Given the description of an element on the screen output the (x, y) to click on. 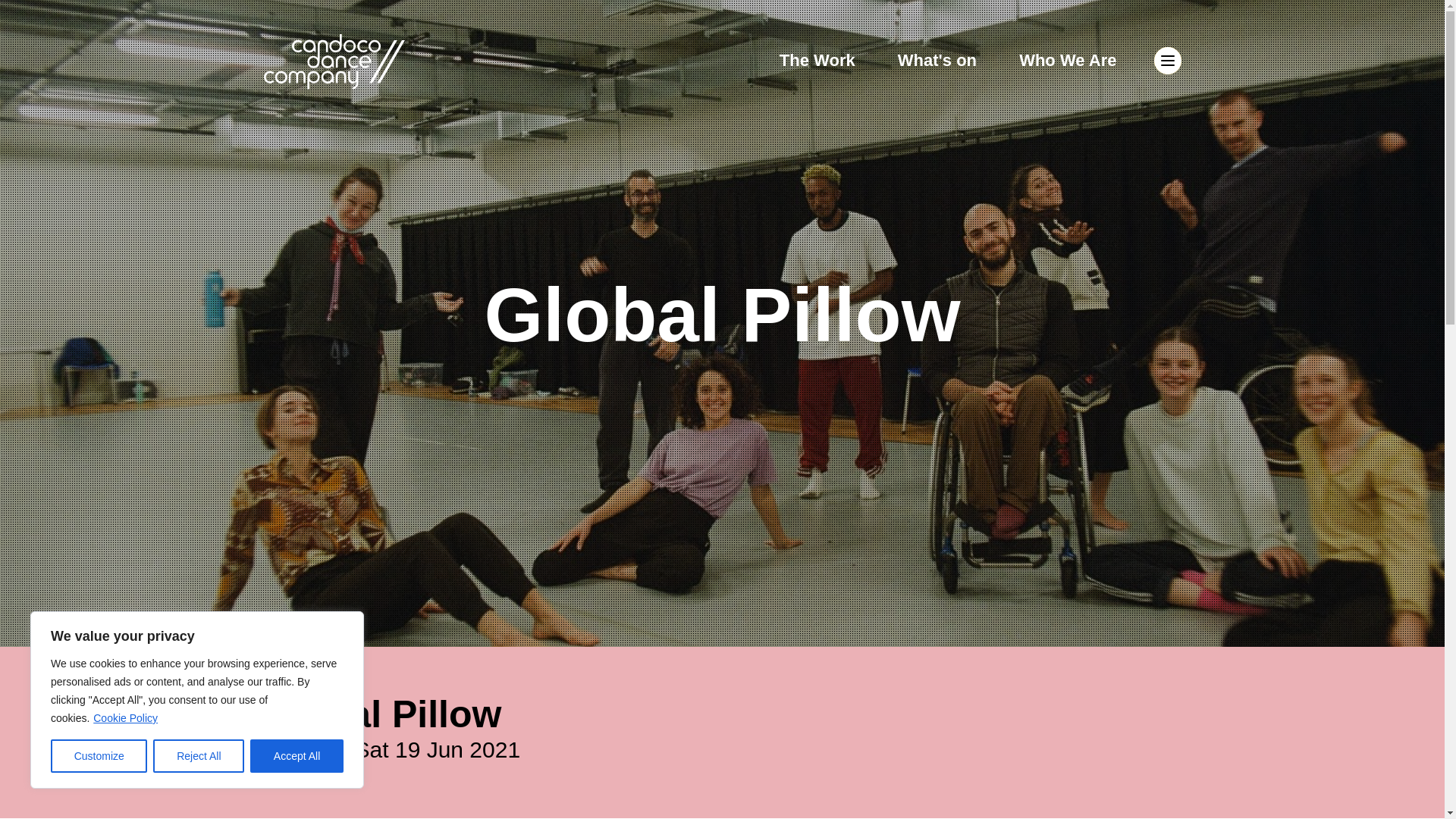
Candoco (333, 61)
Who We Are (1067, 58)
What's on (939, 58)
The Work (819, 58)
Accept All (296, 756)
Candoco (333, 60)
Reject All (198, 756)
Customize (98, 756)
Cookie Policy (125, 717)
